Given the description of an element on the screen output the (x, y) to click on. 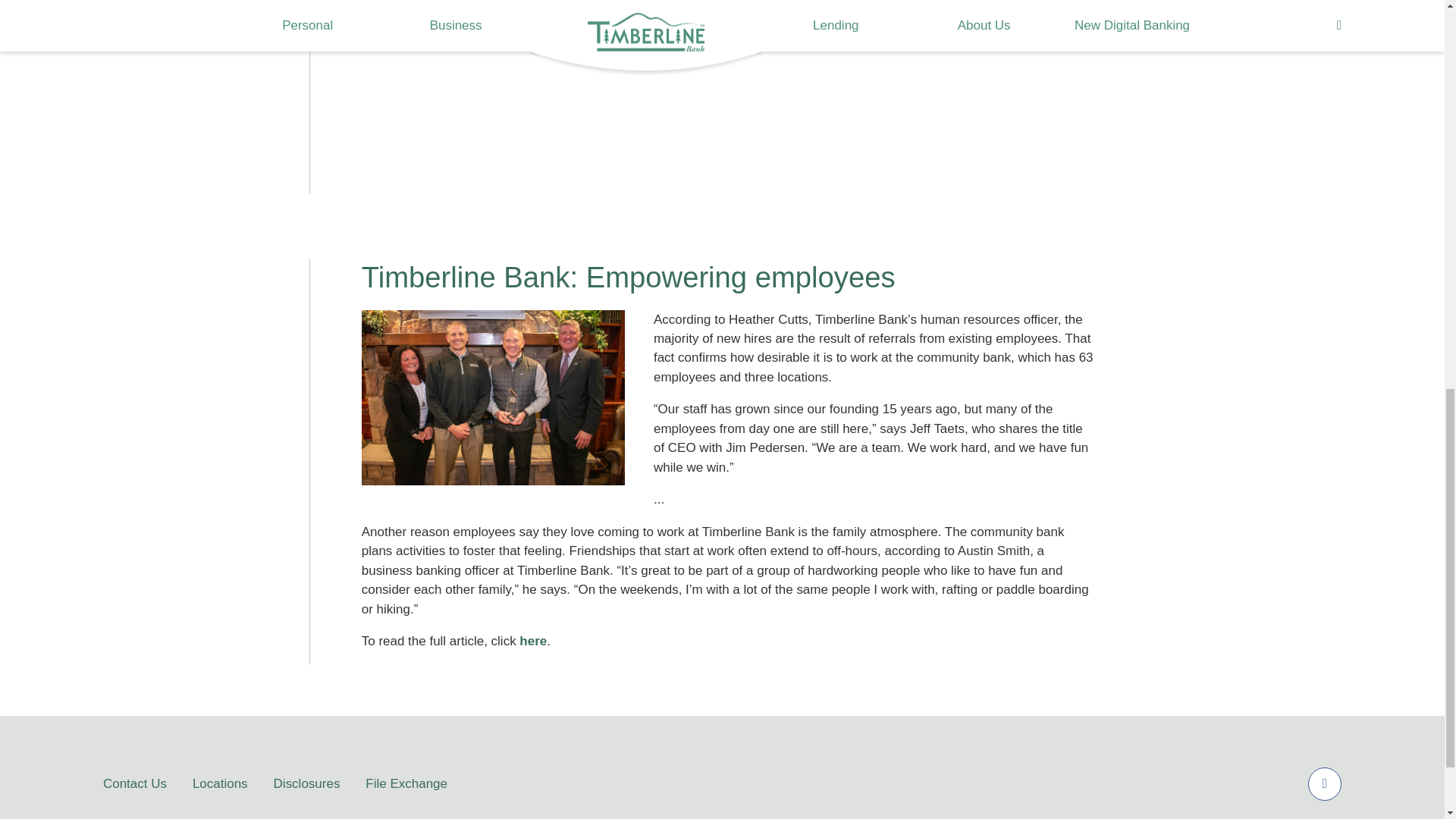
Transparency in Coverage (821, 16)
